Given the description of an element on the screen output the (x, y) to click on. 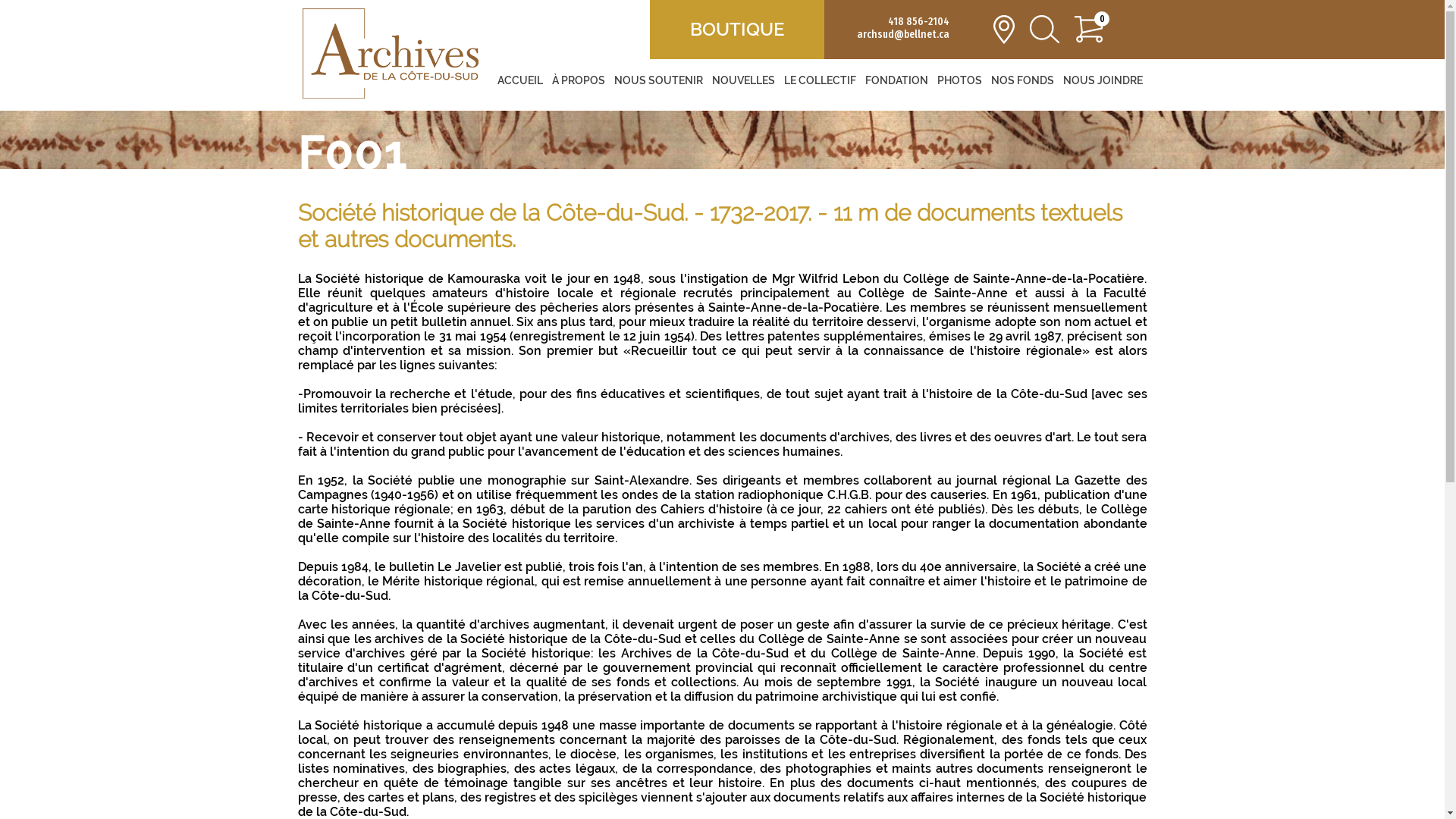
NOS FONDS Element type: text (1021, 80)
0 Element type: text (1088, 31)
LE COLLECTIF Element type: text (820, 80)
418 856-2104 Element type: text (918, 21)
FONDATION Element type: text (895, 80)
PHOTOS Element type: text (959, 80)
NOUVELLES Element type: text (742, 80)
NOUS JOINDRE Element type: text (1102, 80)
BOUTIQUE Element type: text (736, 29)
archsud@bellnet.ca Element type: text (902, 34)
ACCUEIL Element type: text (519, 80)
NOUS SOUTENIR Element type: text (658, 80)
